Given the description of an element on the screen output the (x, y) to click on. 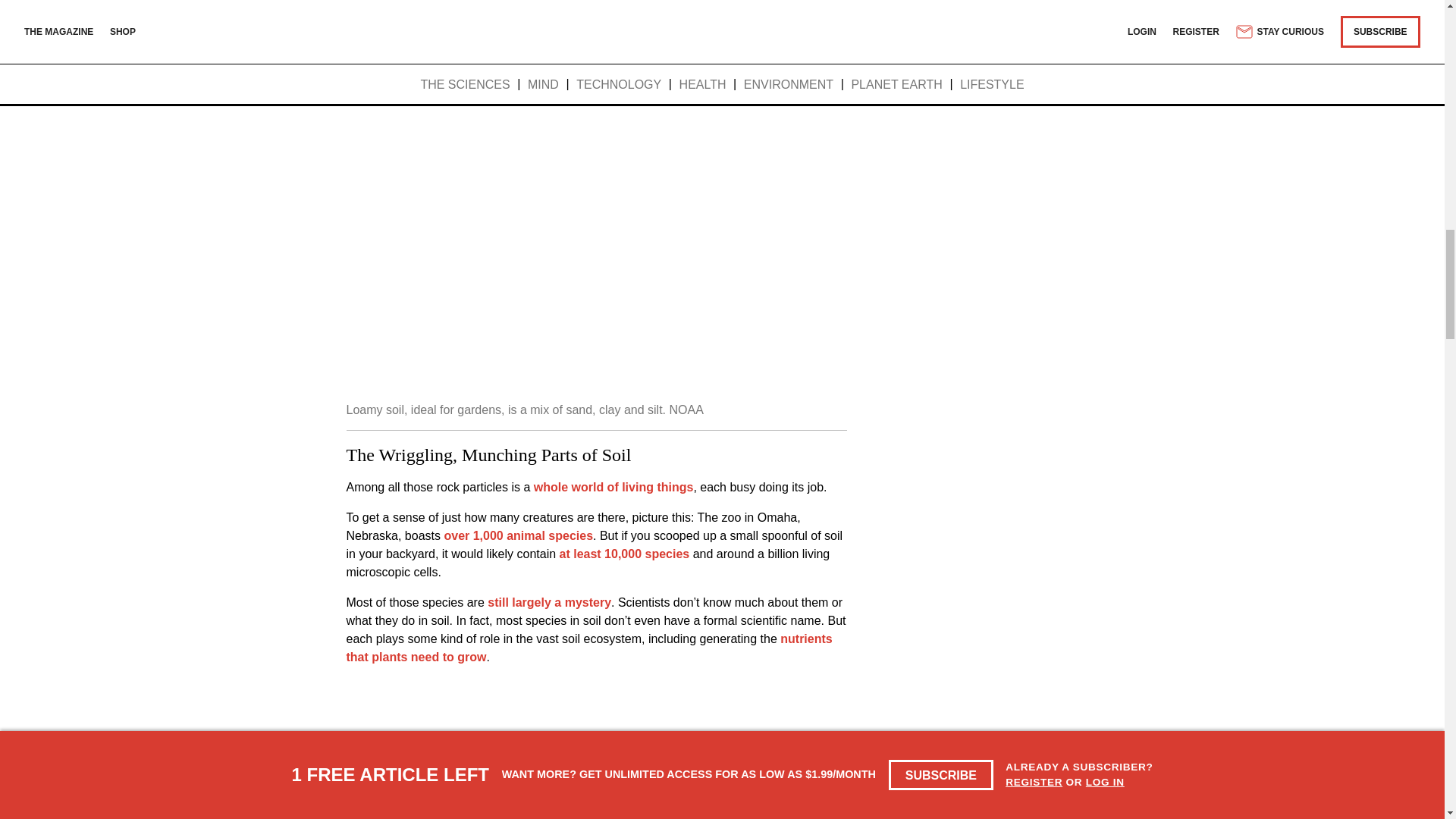
at least 10,000 species (624, 553)
over 1,000 animal species (518, 535)
still largely a mystery (549, 602)
whole world of living things (614, 486)
That combination (567, 14)
nutrients that plants need to grow (588, 647)
